Given the description of an element on the screen output the (x, y) to click on. 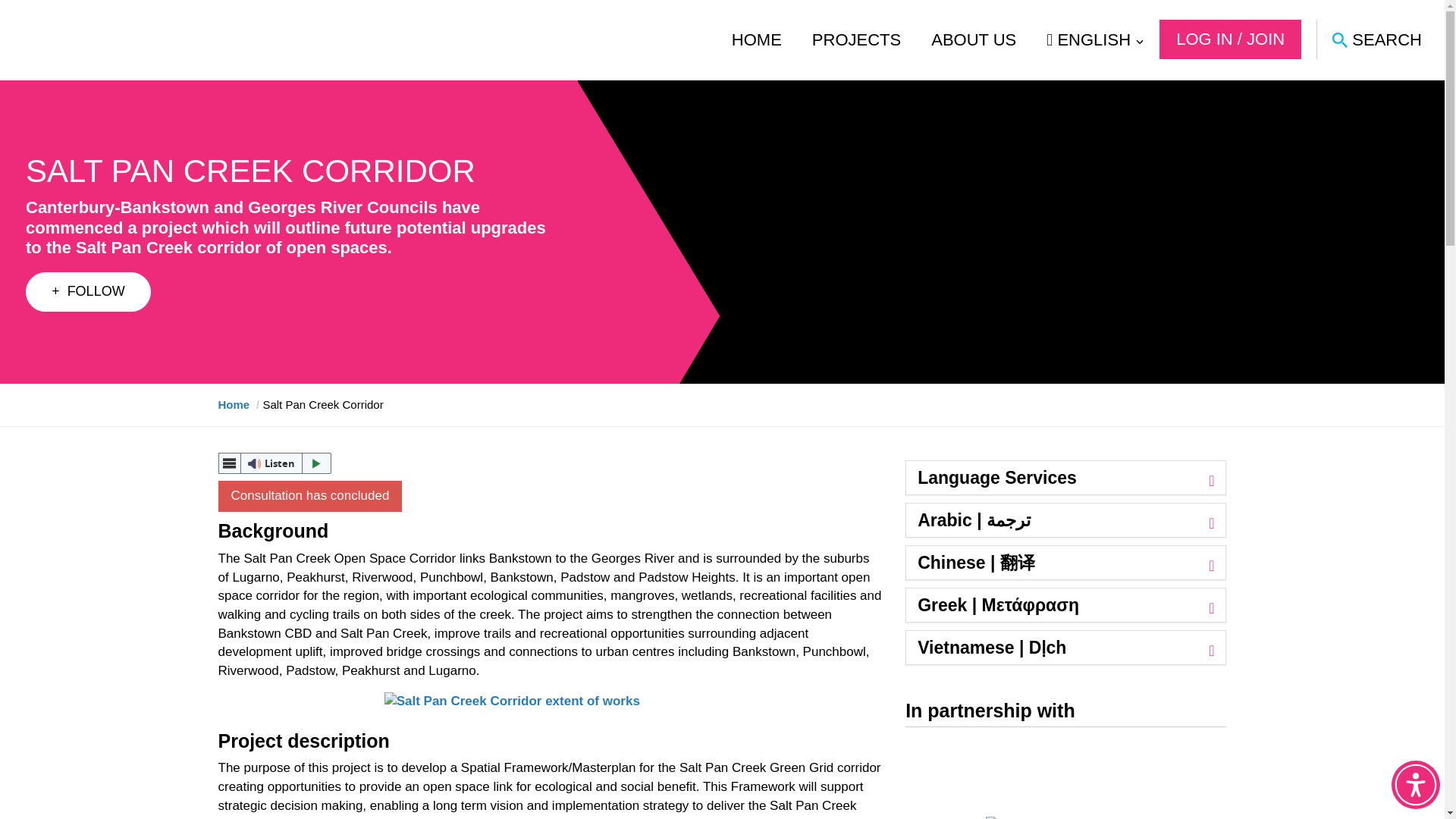
Home (234, 404)
Listen (274, 463)
webReader menu (229, 463)
HOME (756, 40)
  FOLLOW (88, 291)
SEARCH (1376, 38)
ABOUT US (973, 40)
ENGLISH (1095, 40)
Listen to this page using ReadSpeaker webReader (274, 463)
PROJECTS (856, 40)
Home (234, 404)
Accessibility Menu (1415, 784)
